Given the description of an element on the screen output the (x, y) to click on. 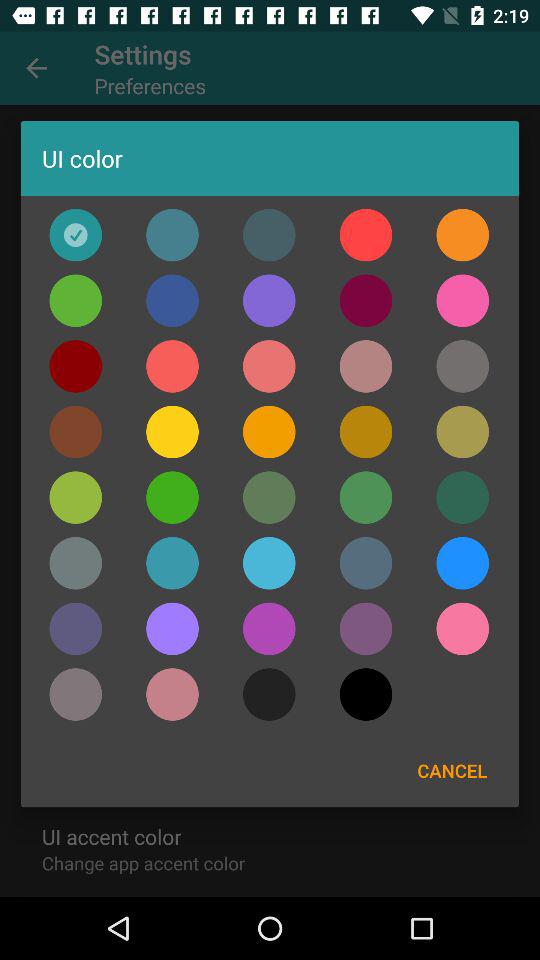
select color (172, 234)
